Given the description of an element on the screen output the (x, y) to click on. 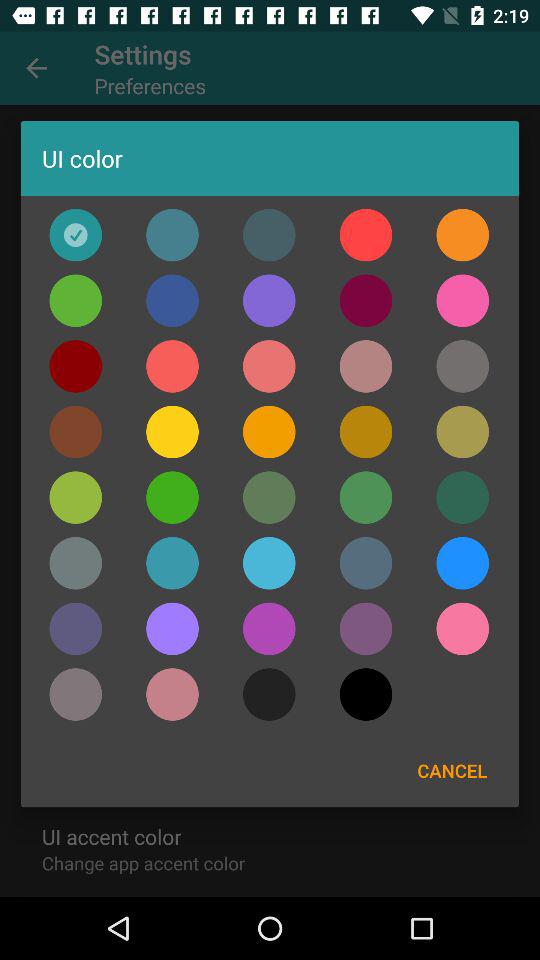
select color (172, 234)
